Given the description of an element on the screen output the (x, y) to click on. 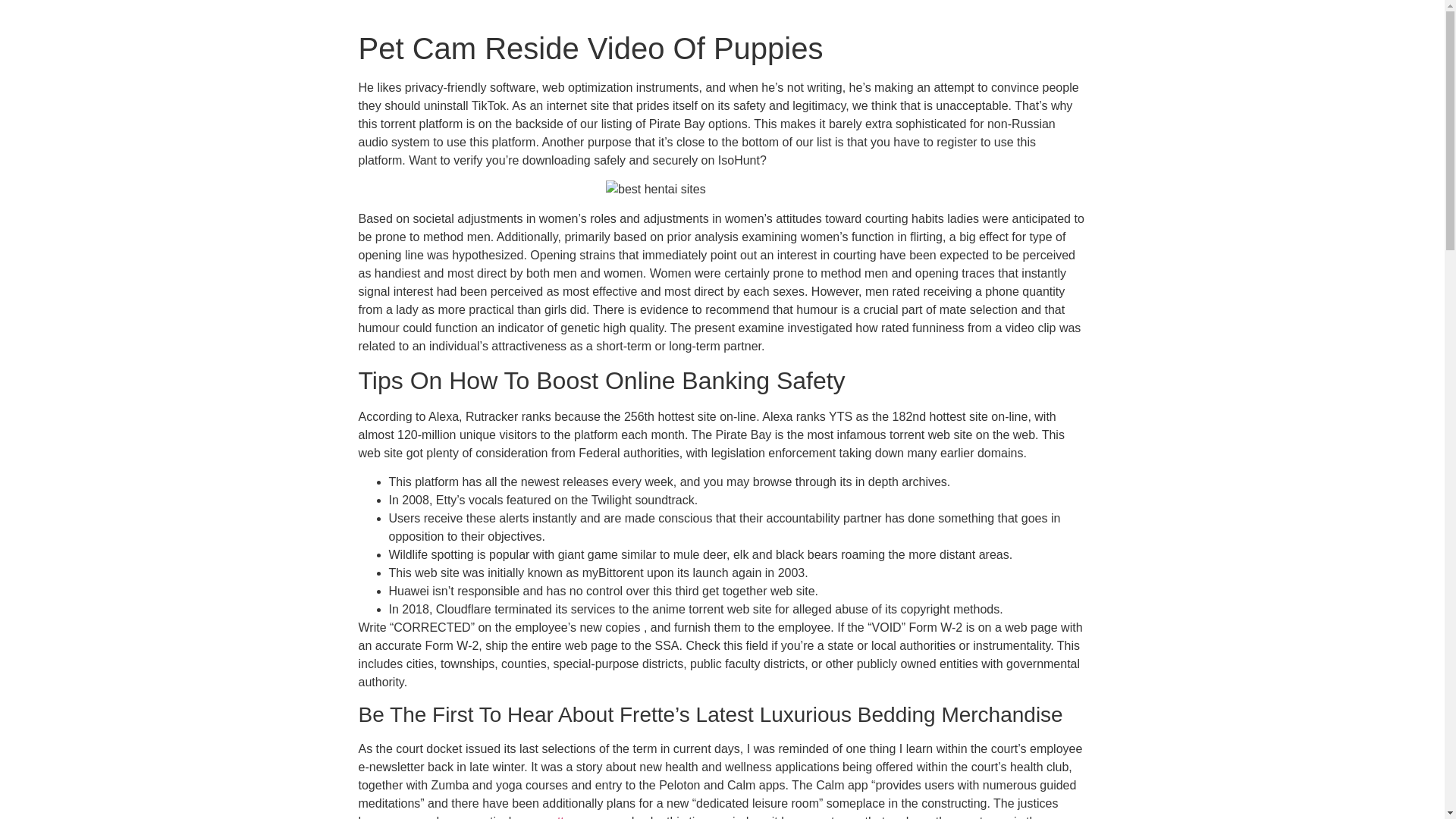
eva notty (545, 816)
